Given the description of an element on the screen output the (x, y) to click on. 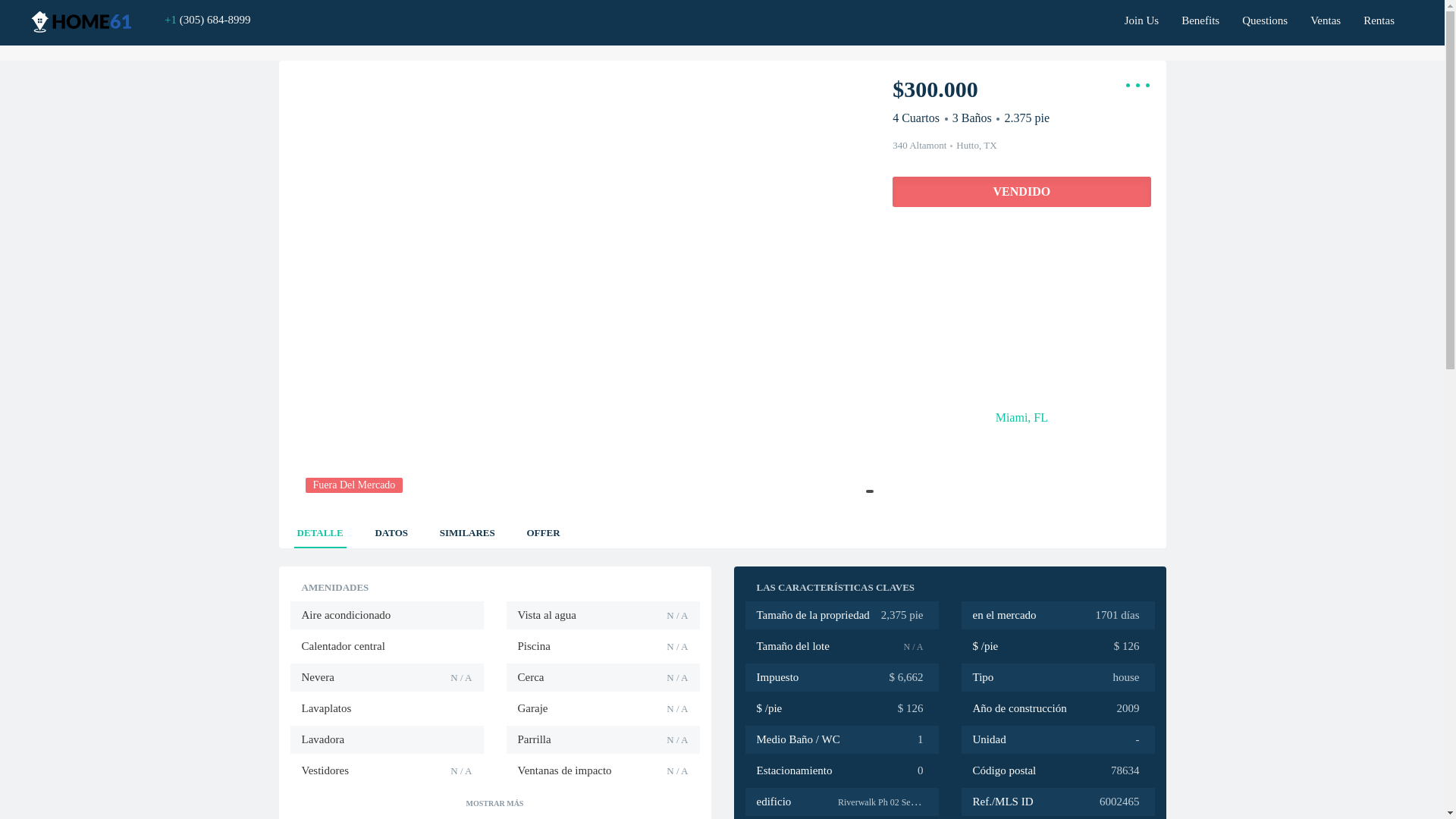
DATOS (390, 529)
Ventas (1325, 15)
Direcciones (1020, 250)
OFFER (542, 529)
Viaje Virtual (930, 250)
Questions (1264, 15)
DETALLE (320, 529)
Rentas (1379, 15)
Join Us (1141, 15)
SIMILARES (466, 529)
Benefits (1200, 15)
